Given the description of an element on the screen output the (x, y) to click on. 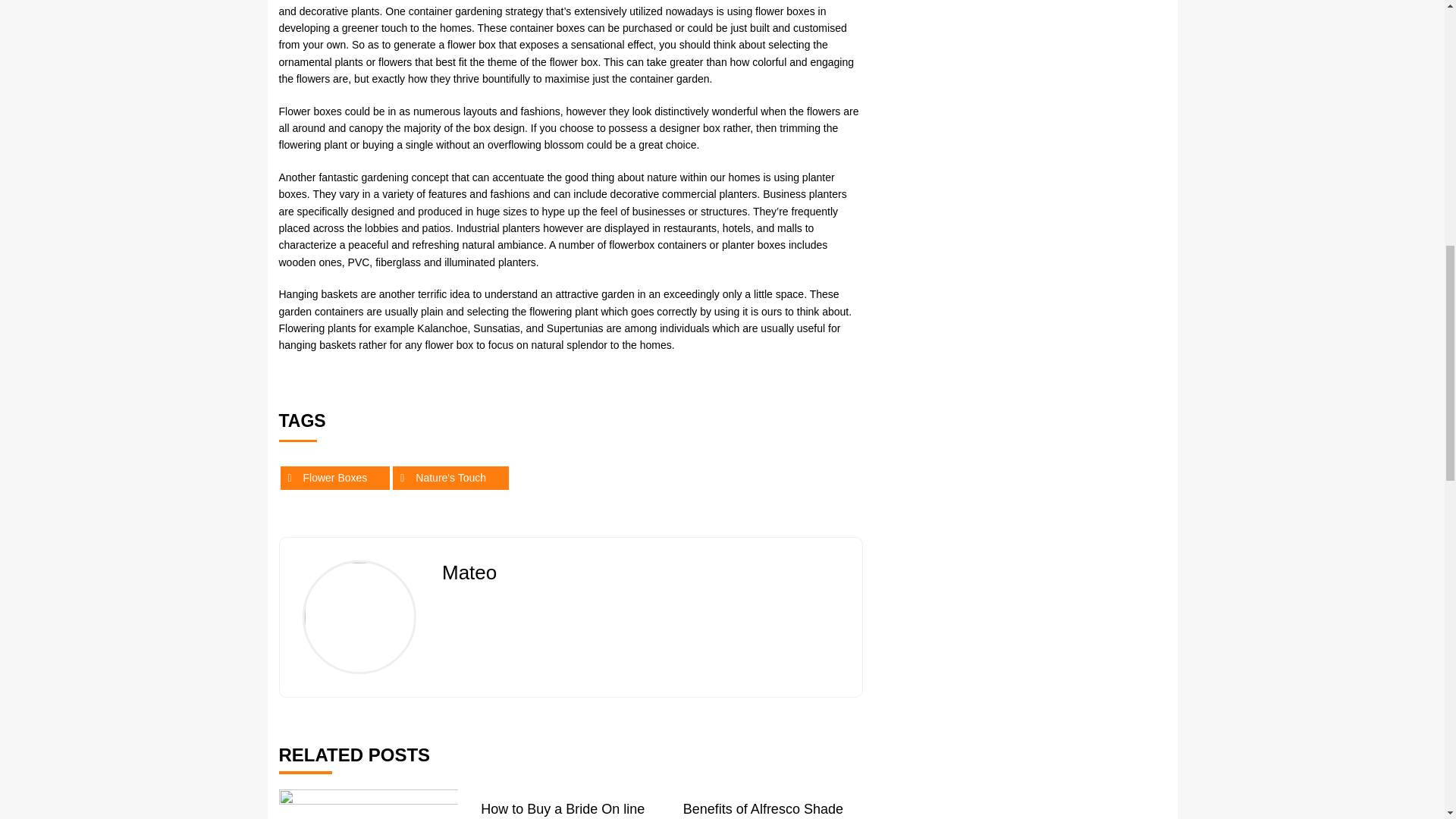
Flower Boxes (335, 477)
Nature'S Touch (450, 477)
Benefits of Alfresco Shade Structures in Varying Situations (762, 810)
How to Buy a Bride On line (562, 808)
